Given the description of an element on the screen output the (x, y) to click on. 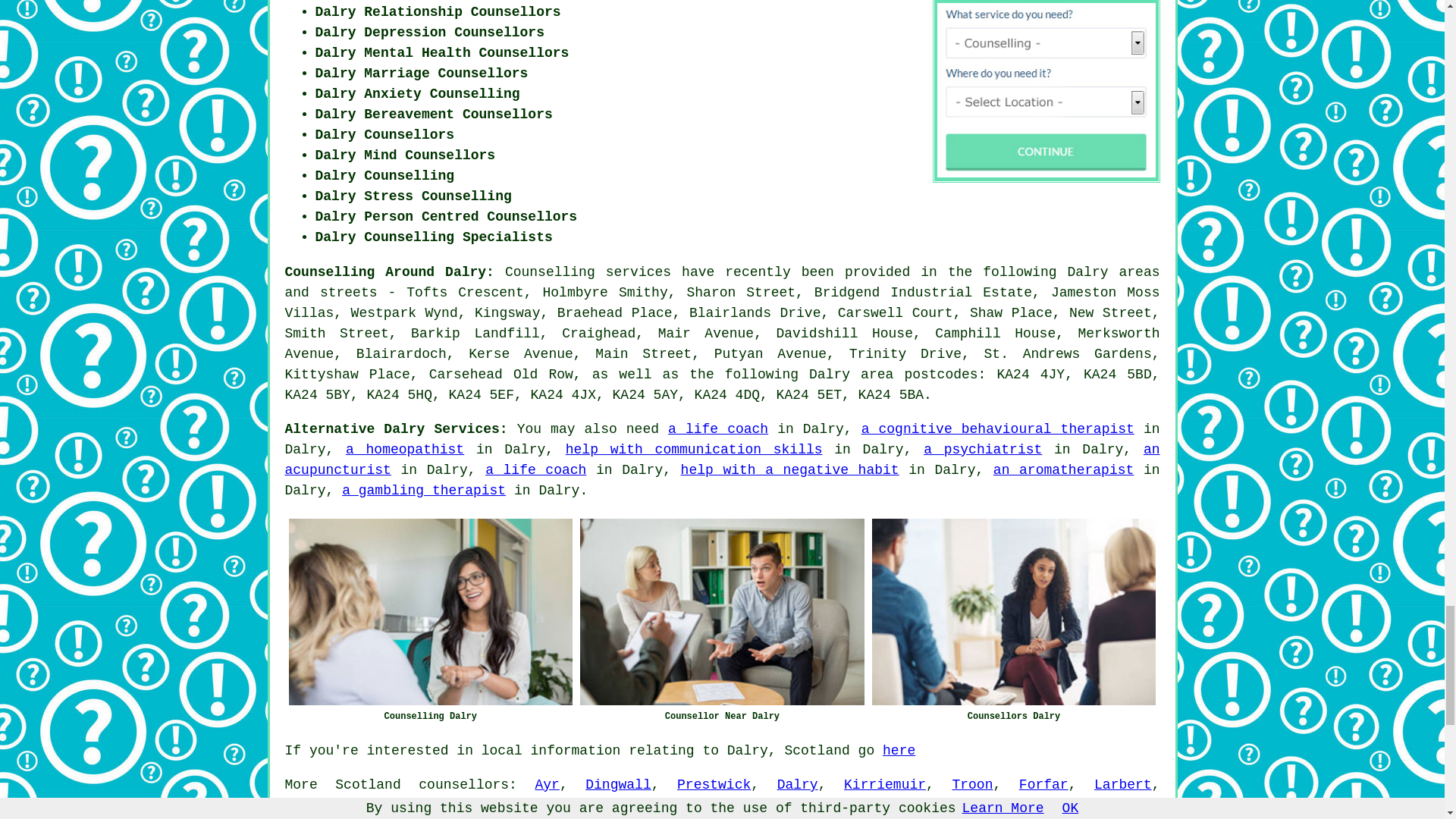
Counsellors Dalry UK (1014, 611)
Counselling Dalry (430, 611)
Counsellor Near Me Dalry (721, 611)
